Given the description of an element on the screen output the (x, y) to click on. 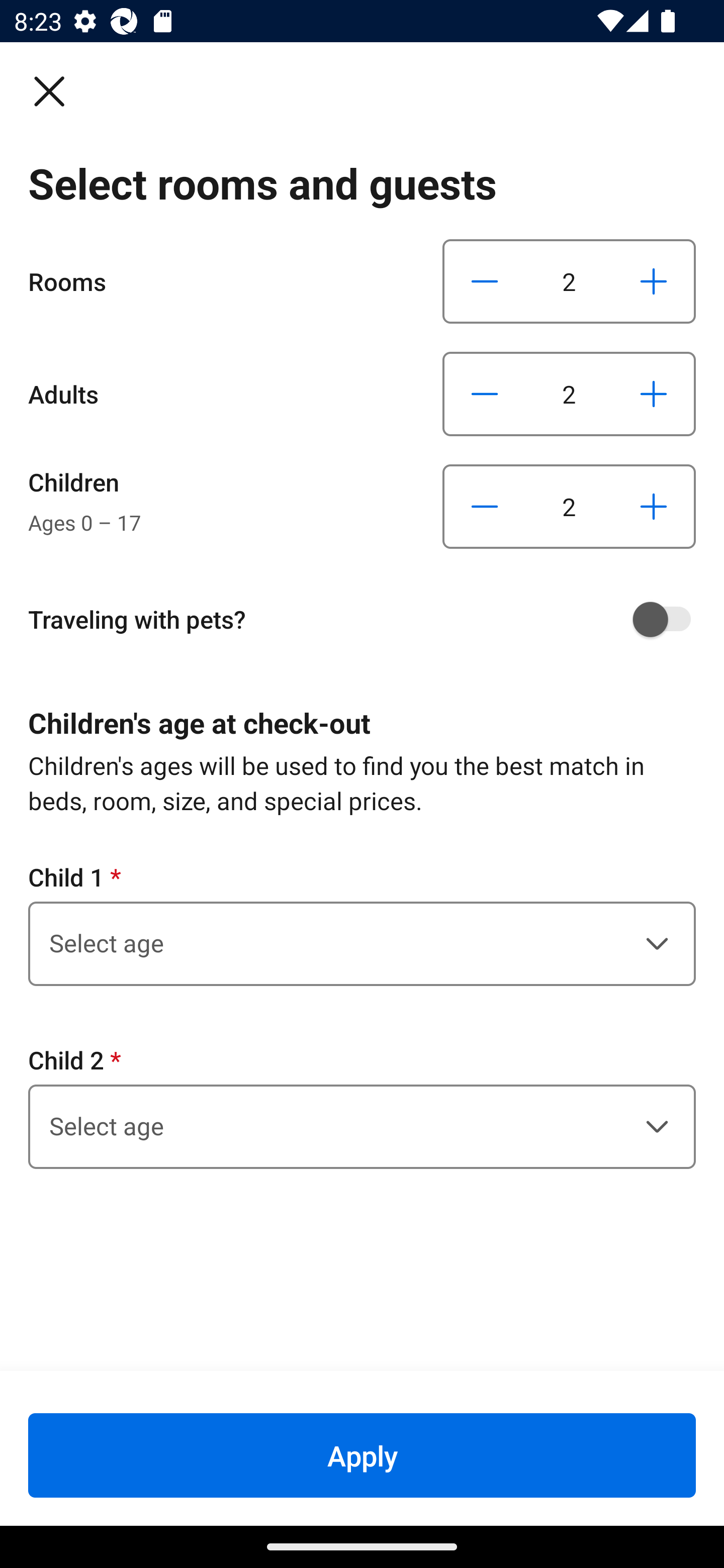
Decrease (484, 281)
Increase (653, 281)
Decrease (484, 393)
Increase (653, 393)
Decrease (484, 506)
Increase (653, 506)
Traveling with pets? (369, 619)
Child 1
required Child 1 * Select age (361, 922)
Child 2
required Child 2 * Select age (361, 1105)
Apply (361, 1454)
